Given the description of an element on the screen output the (x, y) to click on. 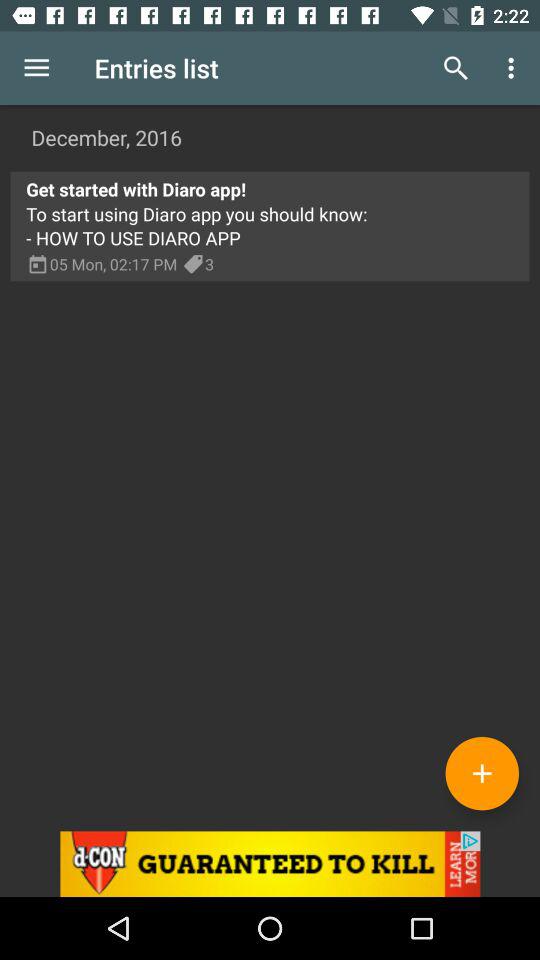
go to increase (482, 773)
